Given the description of an element on the screen output the (x, y) to click on. 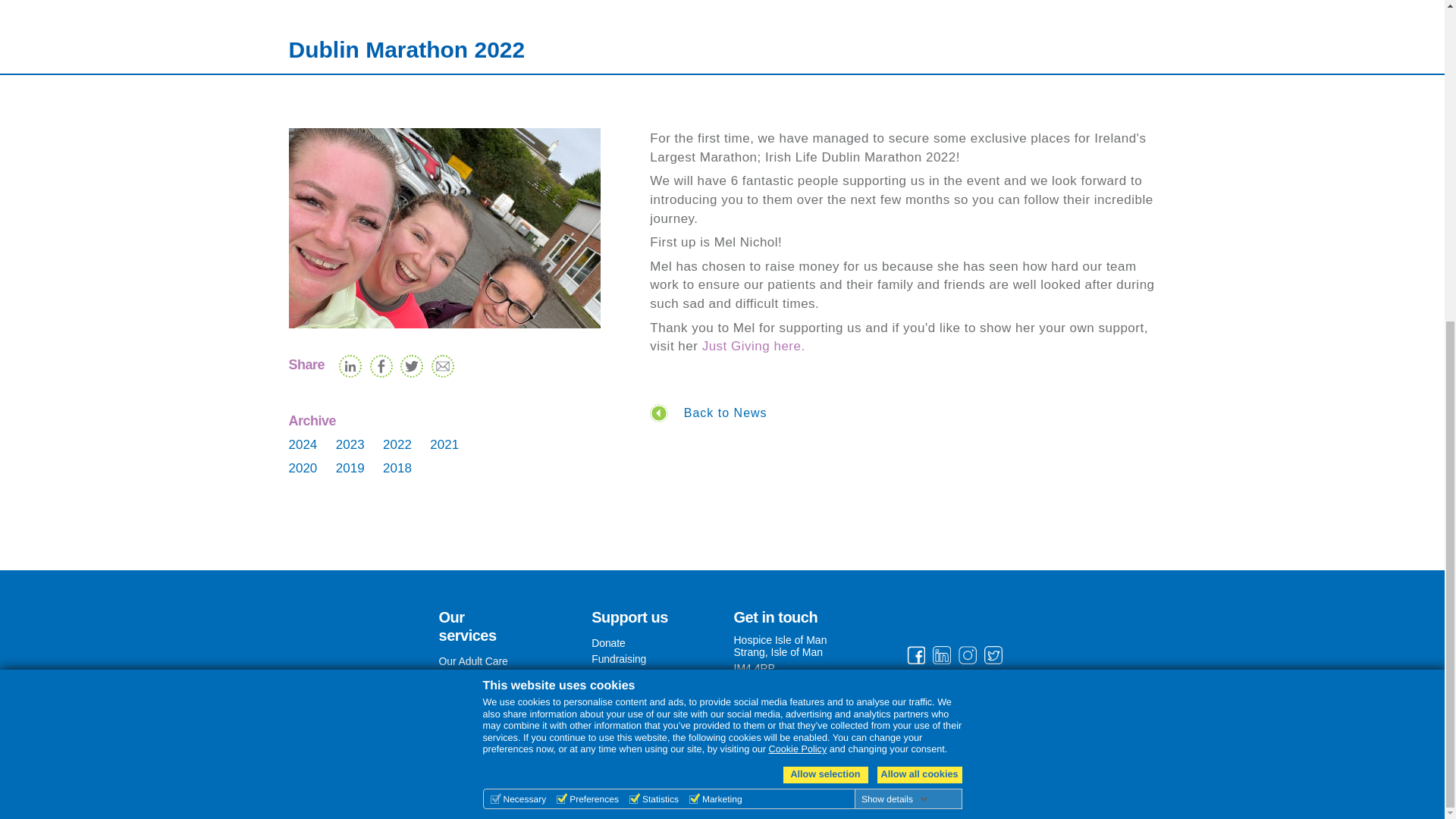
Cookie Policy (797, 226)
Allow all cookies (918, 252)
Allow selection (825, 252)
Show details (895, 277)
